Given the description of an element on the screen output the (x, y) to click on. 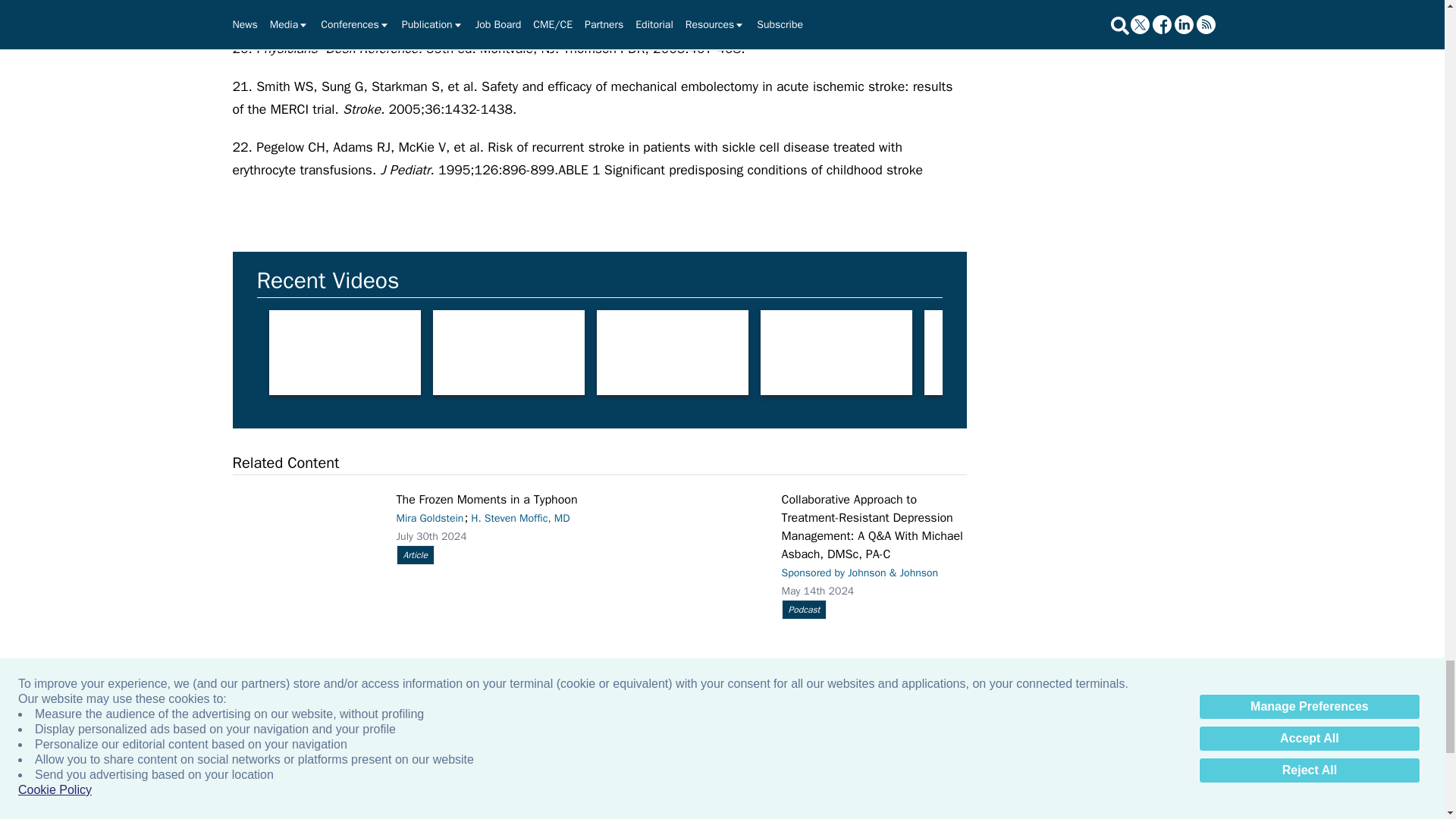
typhoon (304, 537)
